Given the description of an element on the screen output the (x, y) to click on. 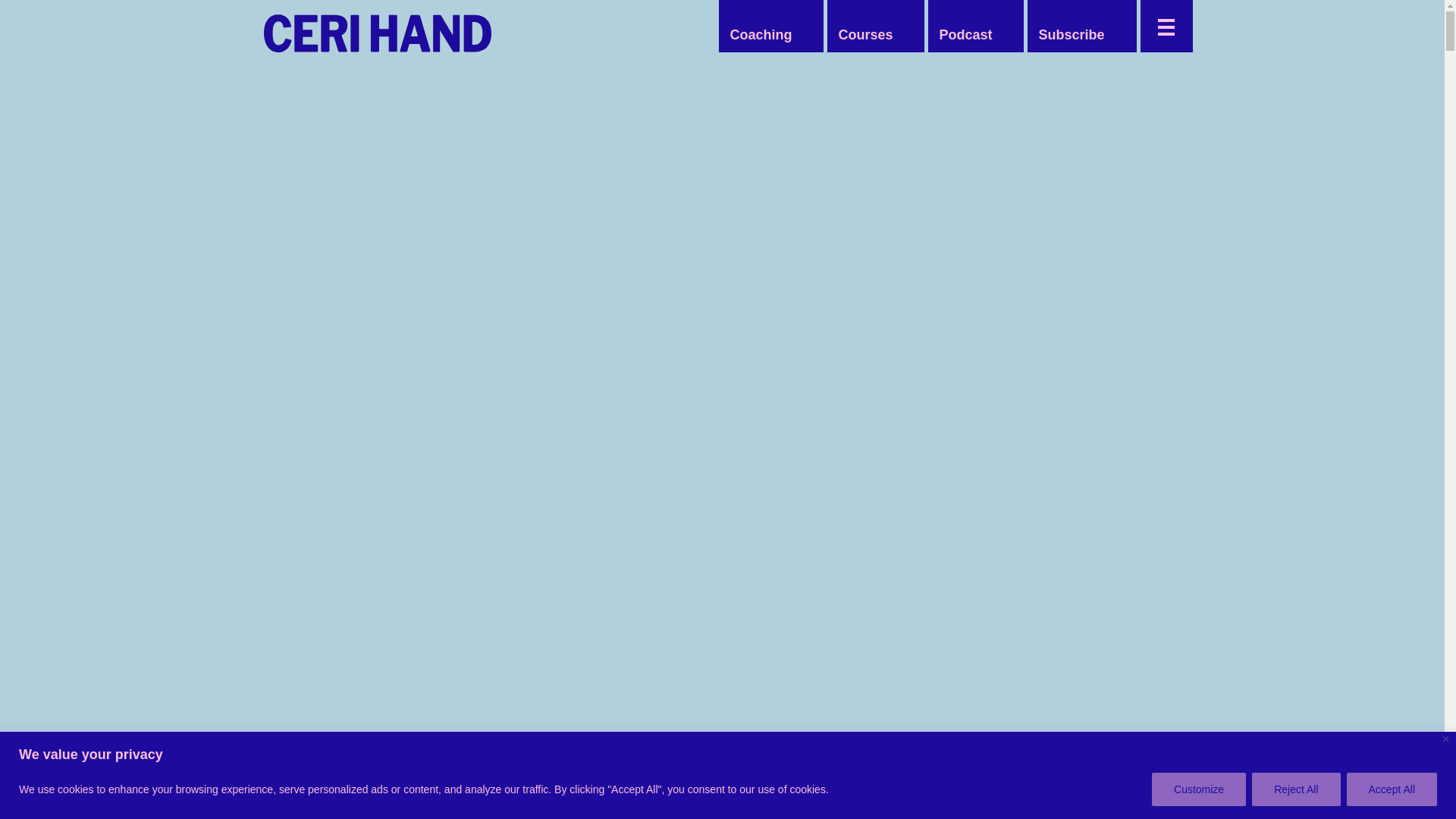
Courses (864, 34)
Coaching (760, 34)
Accept All (1391, 788)
Customize (1198, 788)
Reject All (1295, 788)
Subscribe (1070, 34)
Podcast (964, 34)
